Given the description of an element on the screen output the (x, y) to click on. 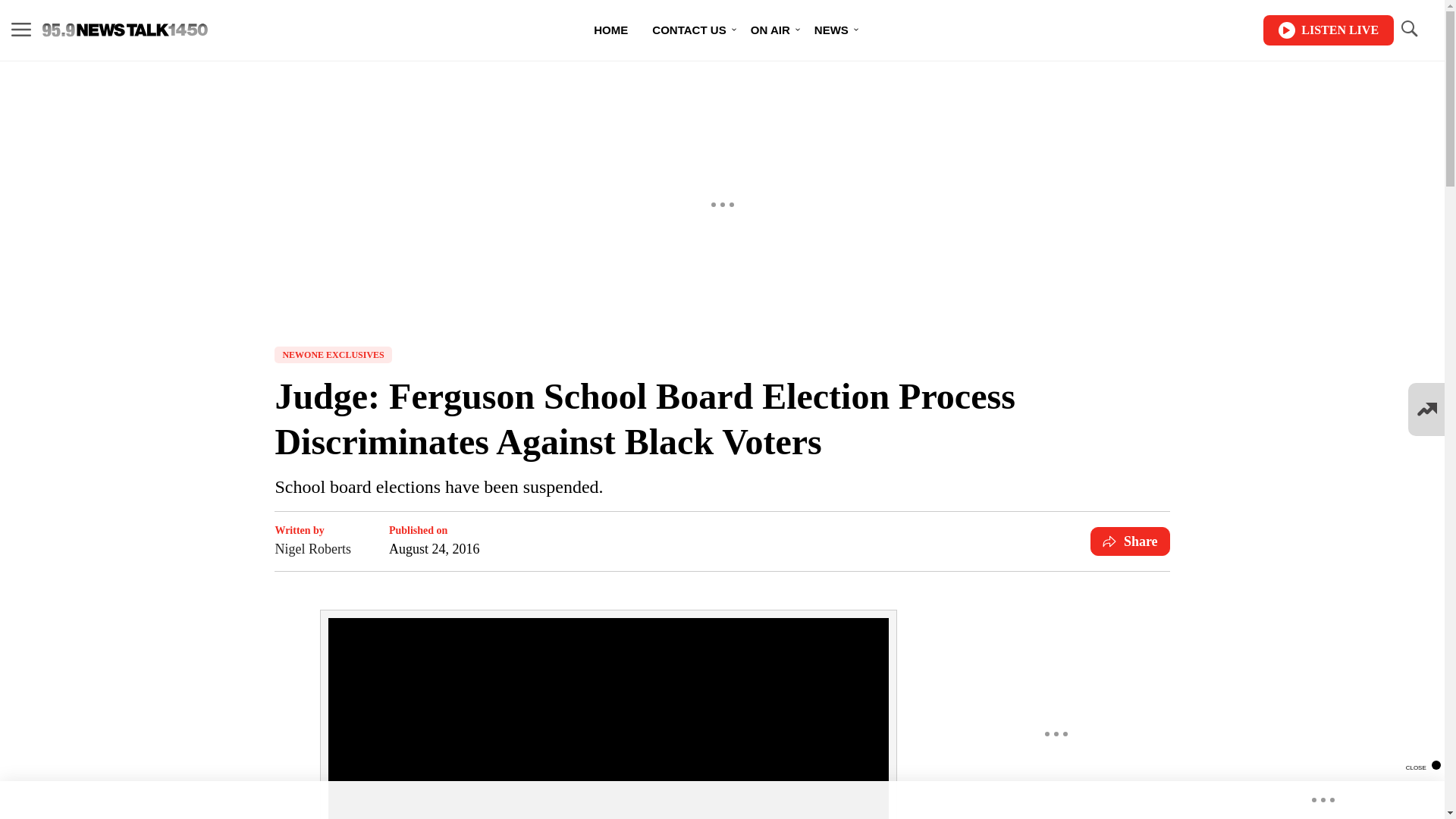
TOGGLE SEARCH (1408, 30)
ON AIR (770, 30)
HOME (610, 30)
Nigel Roberts (312, 548)
Share (1130, 541)
CONTACT US (689, 30)
LISTEN LIVE (1328, 30)
NEWONE EXCLUSIVES (333, 354)
TOGGLE SEARCH (1408, 28)
MENU (20, 29)
NEWS (831, 30)
MENU (20, 30)
